Given the description of an element on the screen output the (x, y) to click on. 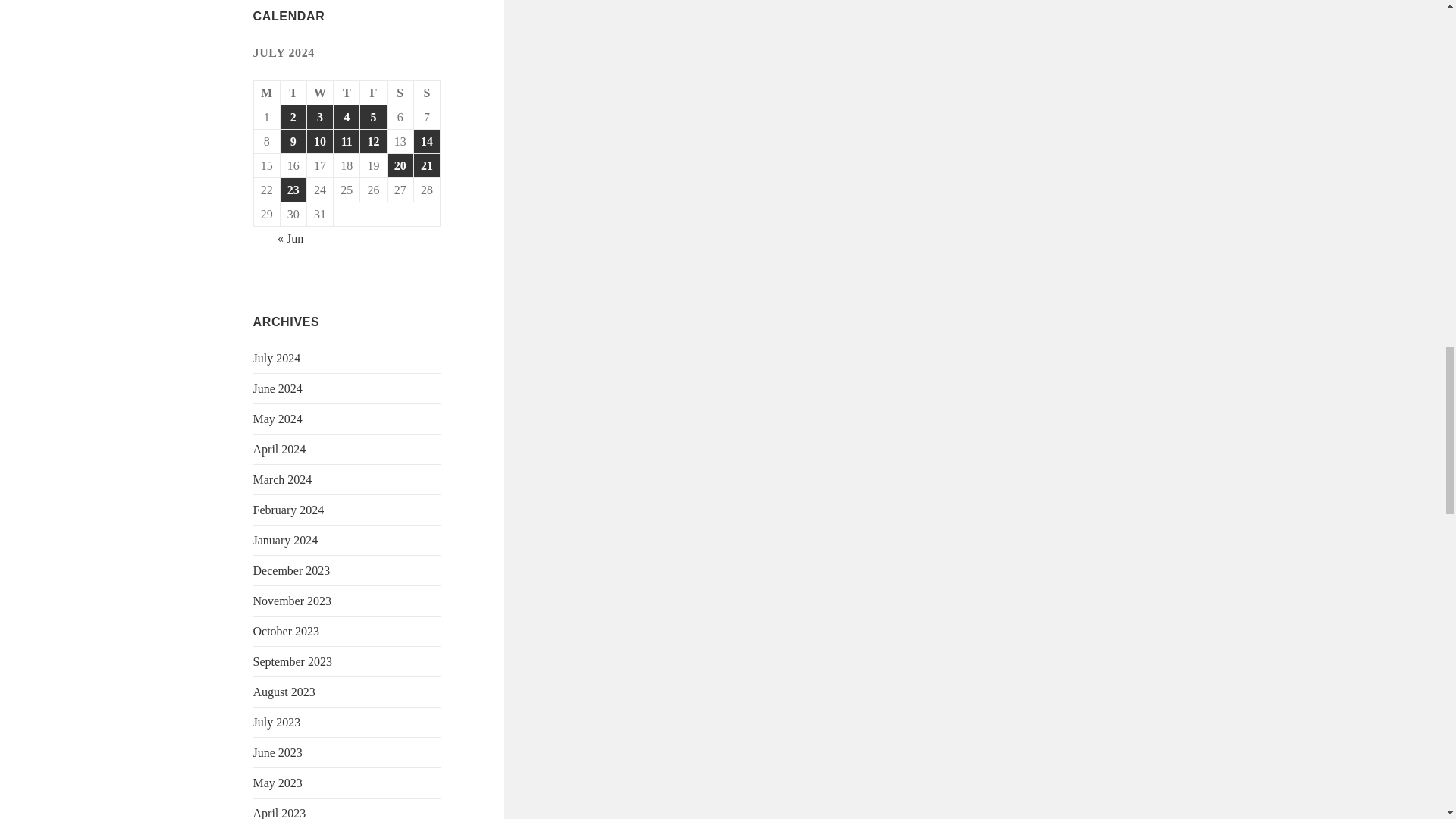
Saturday (400, 93)
14 (426, 141)
3 (320, 116)
Sunday (427, 93)
4 (346, 116)
Monday (267, 93)
June 2024 (277, 388)
Friday (373, 93)
November 2023 (292, 600)
23 (293, 189)
April 2024 (279, 449)
May 2024 (277, 418)
January 2024 (285, 540)
September 2023 (292, 661)
9 (293, 141)
